Given the description of an element on the screen output the (x, y) to click on. 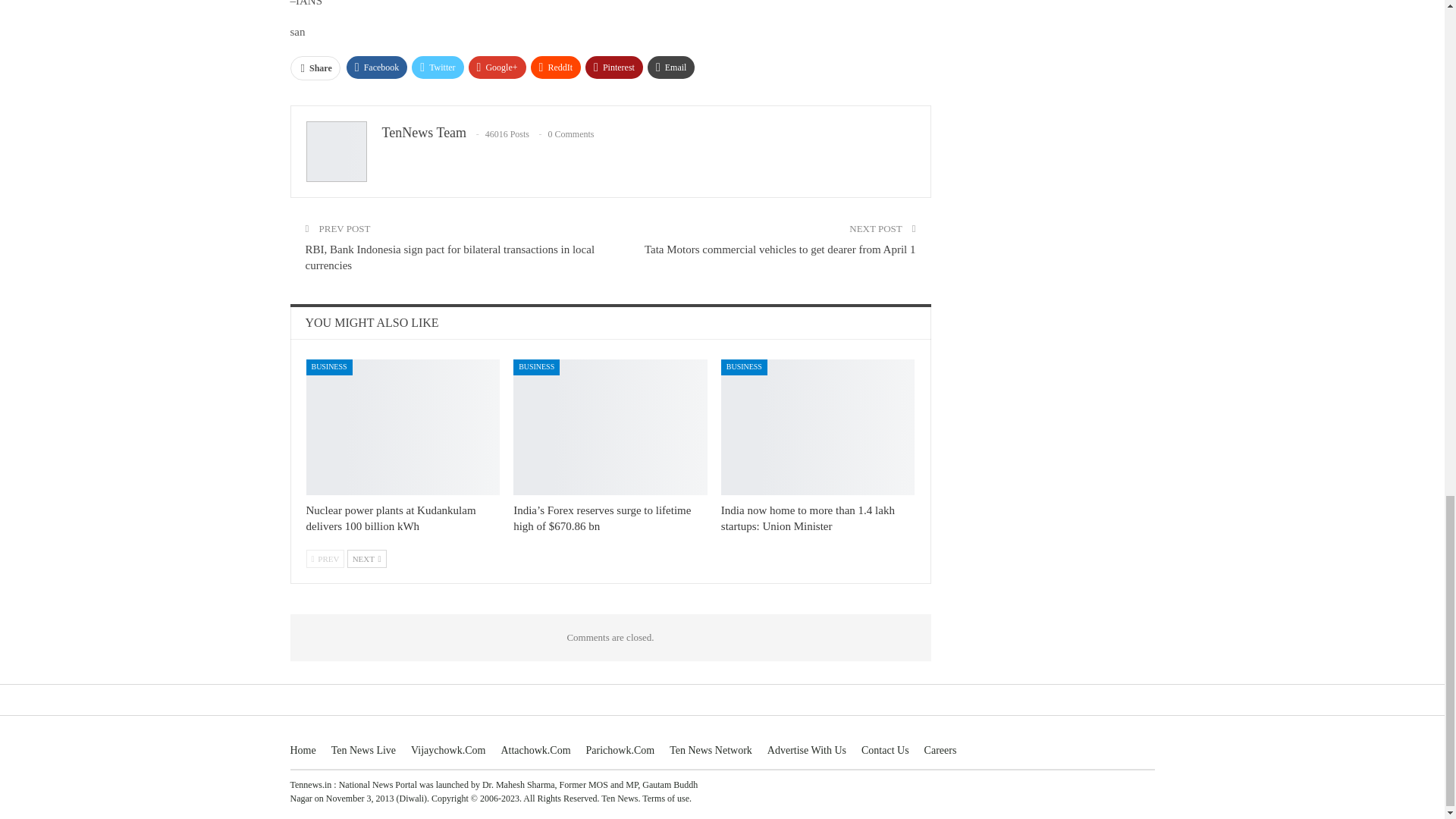
Twitter (437, 67)
Facebook (376, 67)
Previous (325, 558)
Next (367, 558)
ReddIt (555, 67)
Nuclear power plants at Kudankulam delivers 100 billion kWh (390, 518)
Nuclear power plants at Kudankulam delivers 100 billion kWh (402, 427)
